Given the description of an element on the screen output the (x, y) to click on. 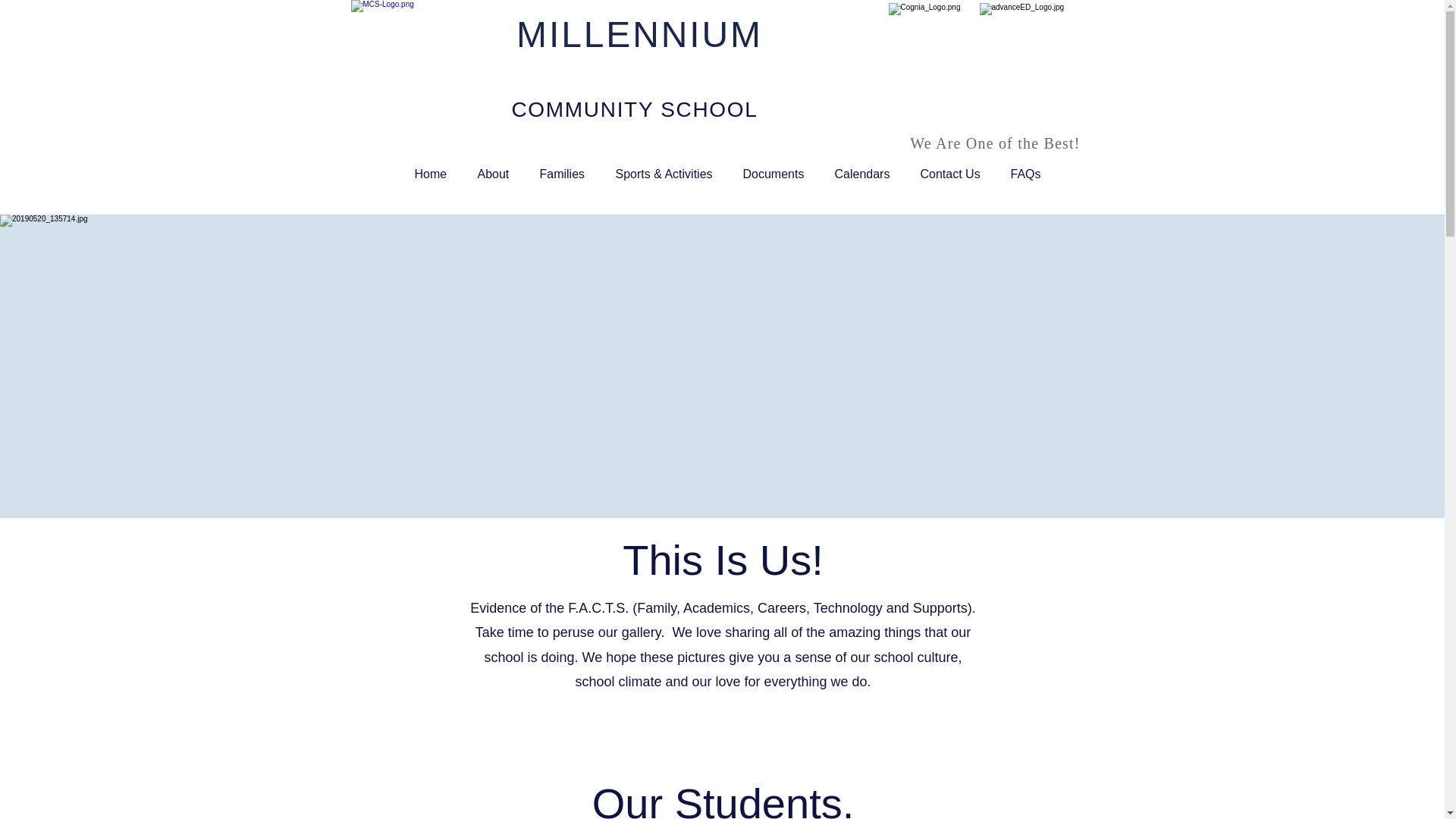
Calendars Element type: text (861, 174)
Documents Element type: text (773, 174)
MILLENNIUM Element type: text (639, 34)
Sports & Activities Element type: text (664, 174)
Contact Us Element type: text (950, 174)
Home Element type: text (429, 174)
FAQs Element type: text (1024, 174)
About Element type: text (493, 174)
Families Element type: text (562, 174)
